Given the description of an element on the screen output the (x, y) to click on. 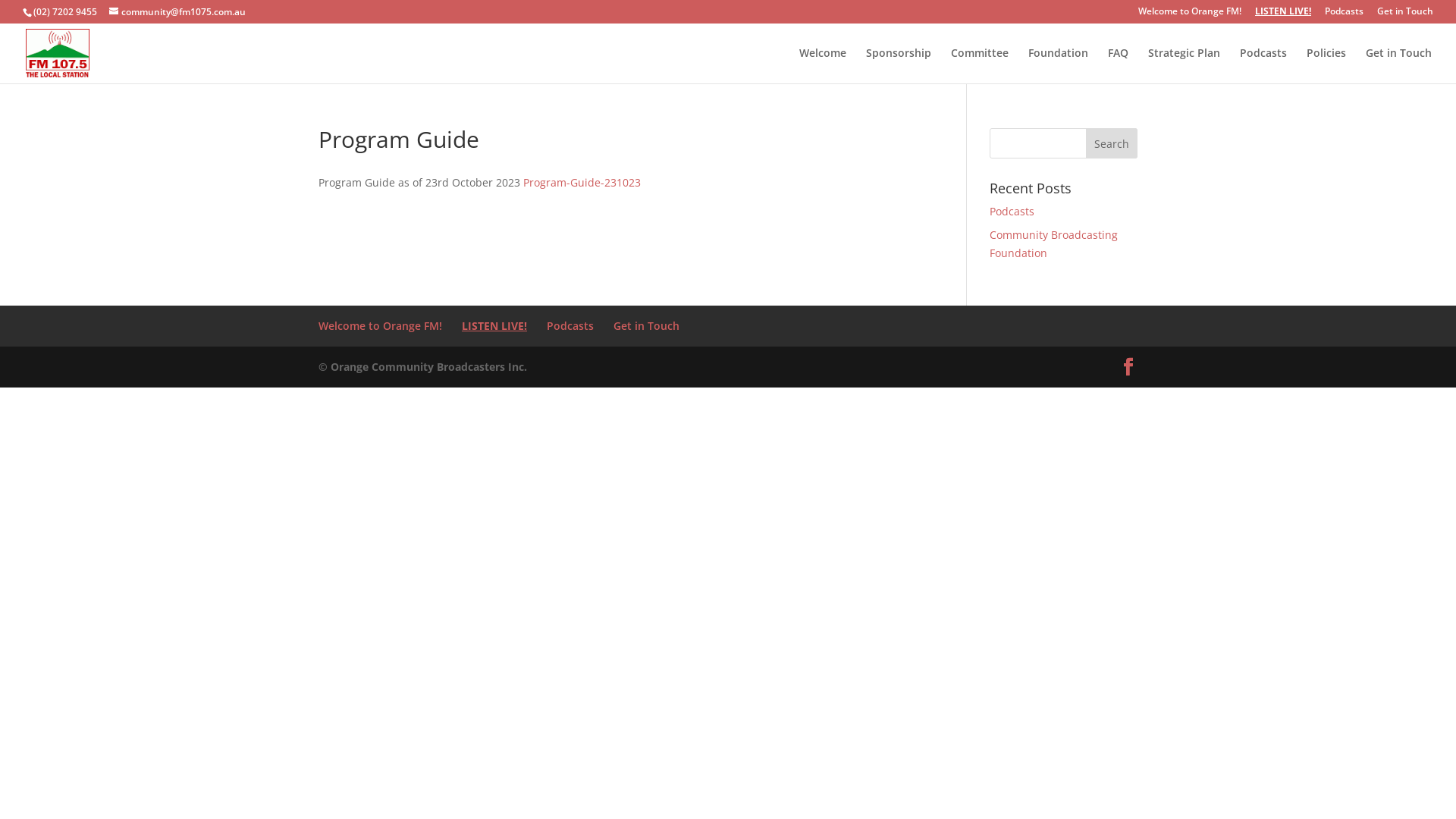
Strategic Plan Element type: text (1184, 65)
Podcasts Element type: text (1343, 14)
Foundation Element type: text (1058, 65)
FAQ Element type: text (1117, 65)
Welcome to Orange FM! Element type: text (1189, 14)
LISTEN LIVE! Element type: text (1283, 14)
Policies Element type: text (1326, 65)
Search Element type: text (1111, 143)
Welcome Element type: text (822, 65)
community@fm1075.com.au Element type: text (177, 11)
Program-Guide-231023 Element type: text (581, 182)
Committee Element type: text (979, 65)
Podcasts Element type: text (569, 325)
Get in Touch Element type: text (646, 325)
Community Broadcasting Foundation Element type: text (1053, 243)
Get in Touch Element type: text (1398, 65)
Podcasts Element type: text (1011, 210)
Podcasts Element type: text (1262, 65)
Get in Touch Element type: text (1405, 14)
Welcome to Orange FM! Element type: text (380, 325)
Sponsorship Element type: text (898, 65)
LISTEN LIVE! Element type: text (494, 325)
